Given the description of an element on the screen output the (x, y) to click on. 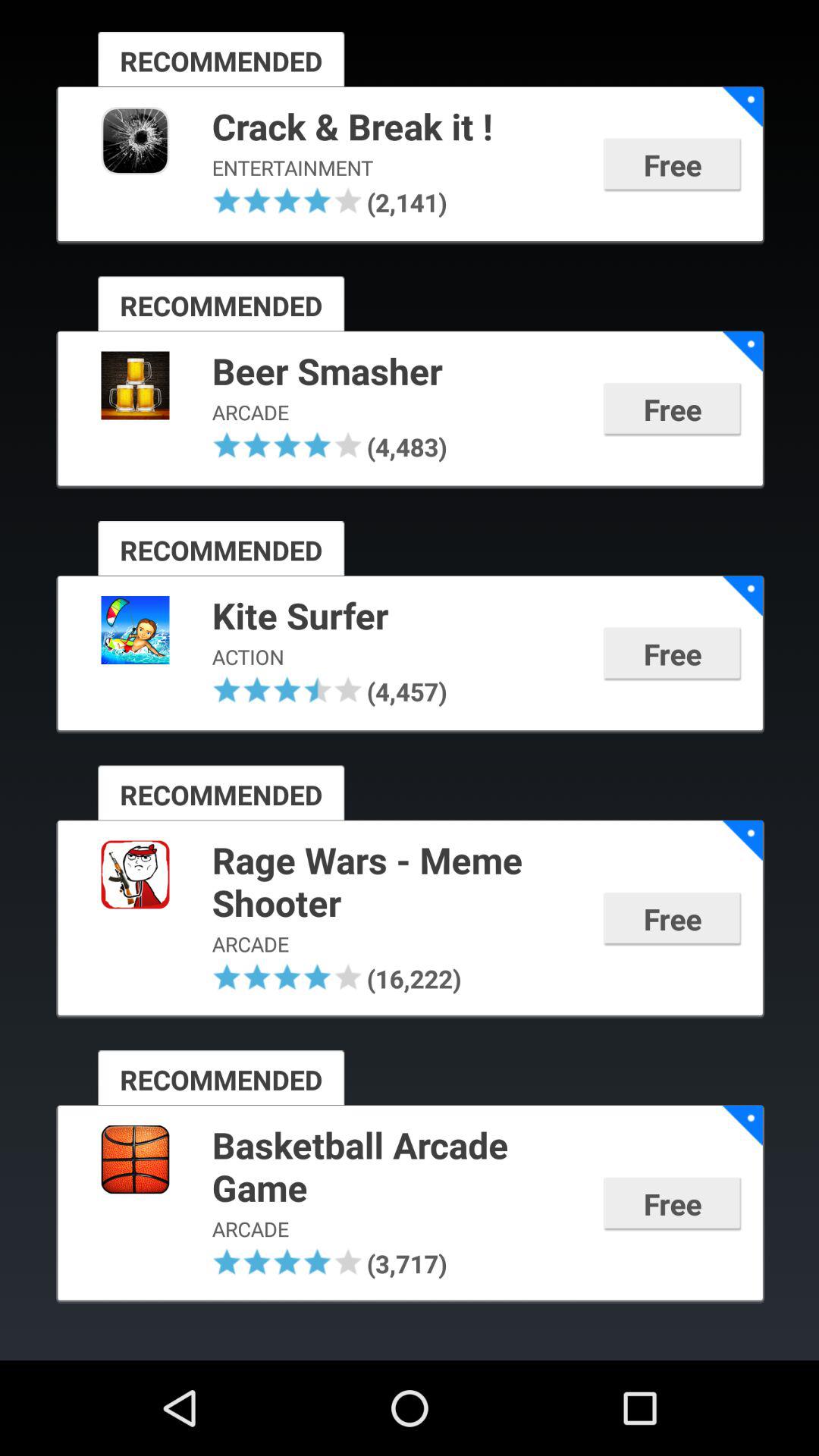
tap app to the left of (16,222) (347, 976)
